Given the description of an element on the screen output the (x, y) to click on. 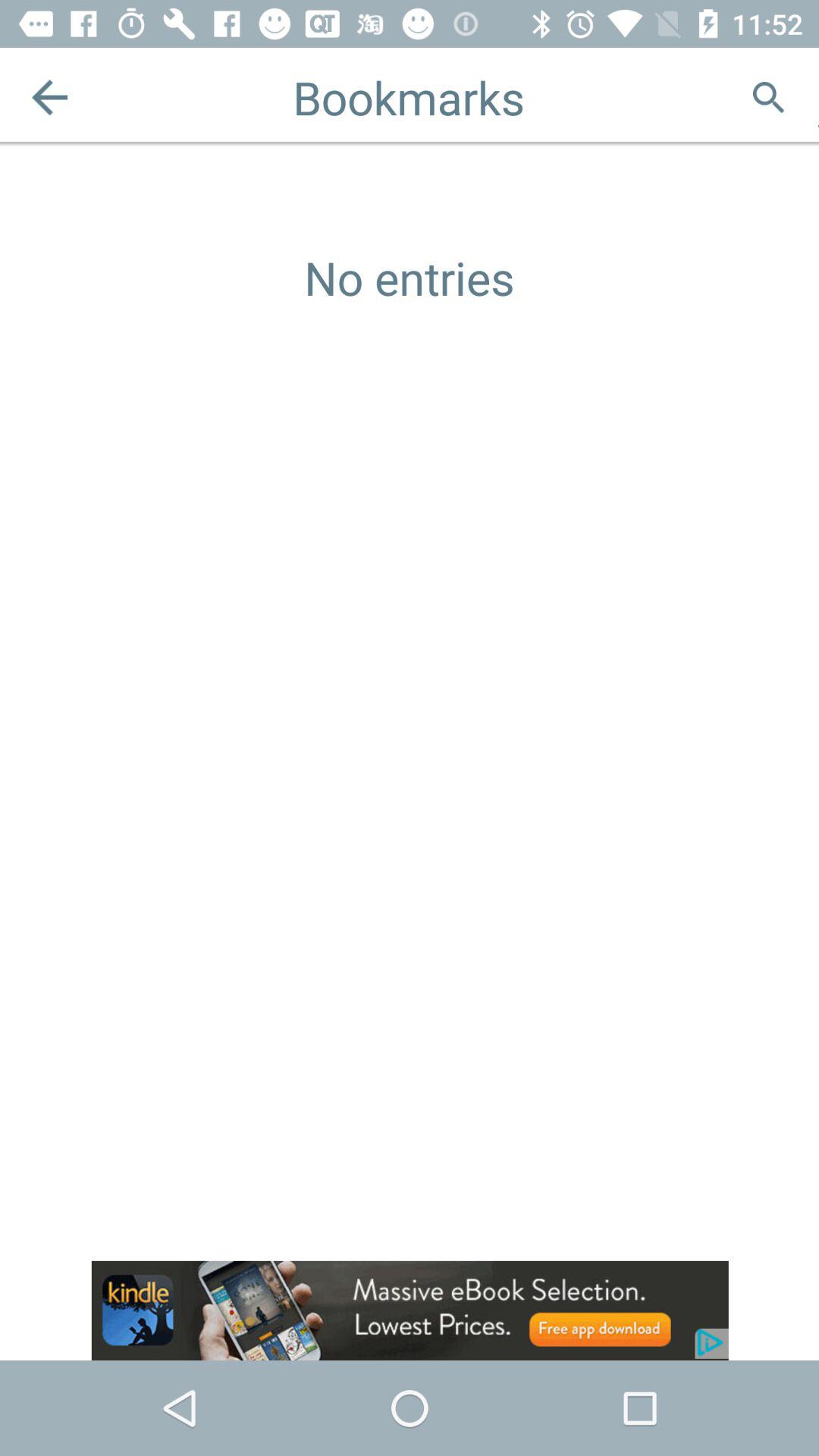
search icon (768, 97)
